Given the description of an element on the screen output the (x, y) to click on. 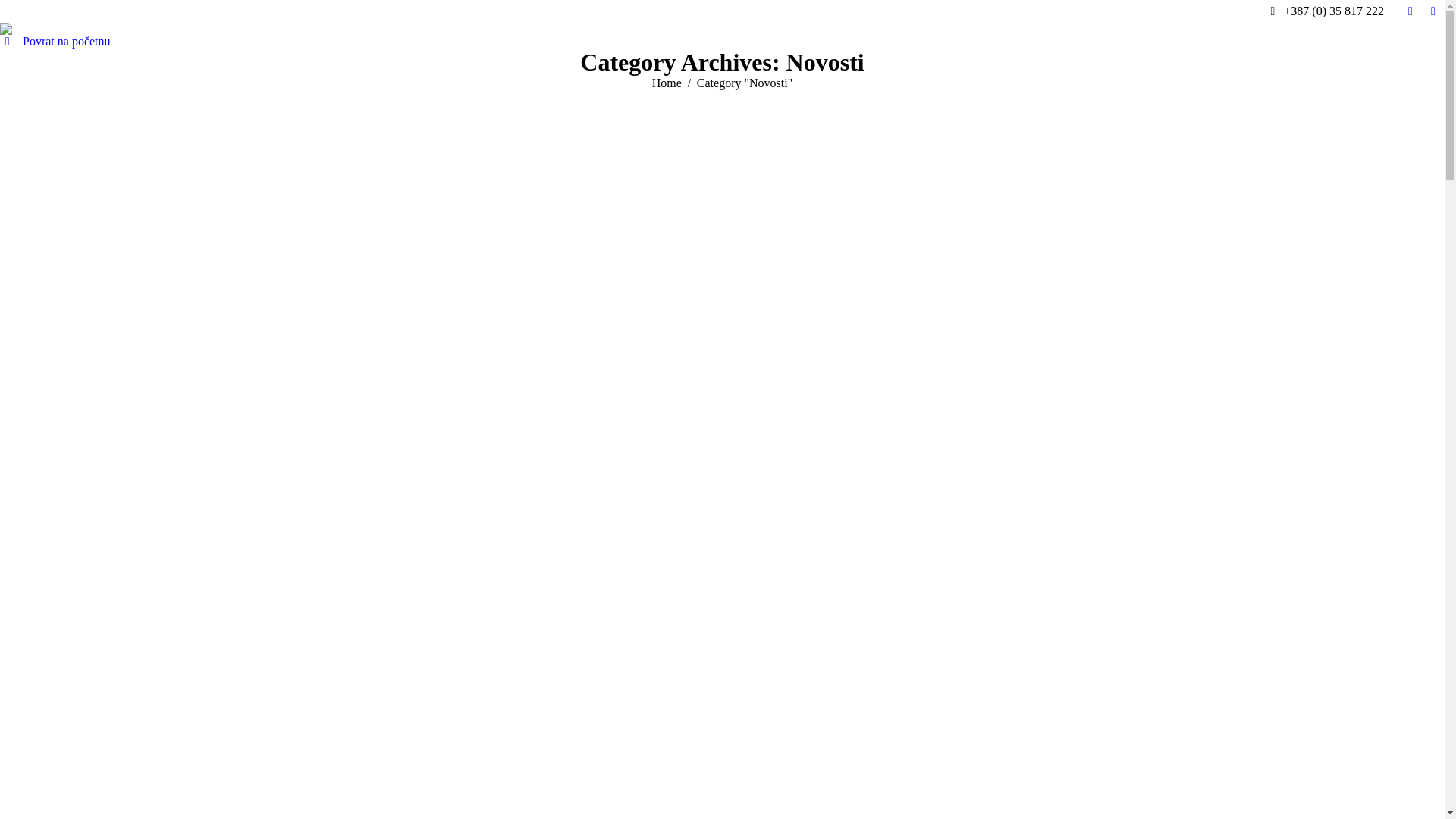
Home Element type: text (666, 82)
Facebook page opens in new window Element type: text (1410, 11)
Instagram page opens in new window Element type: text (1433, 11)
